Given the description of an element on the screen output the (x, y) to click on. 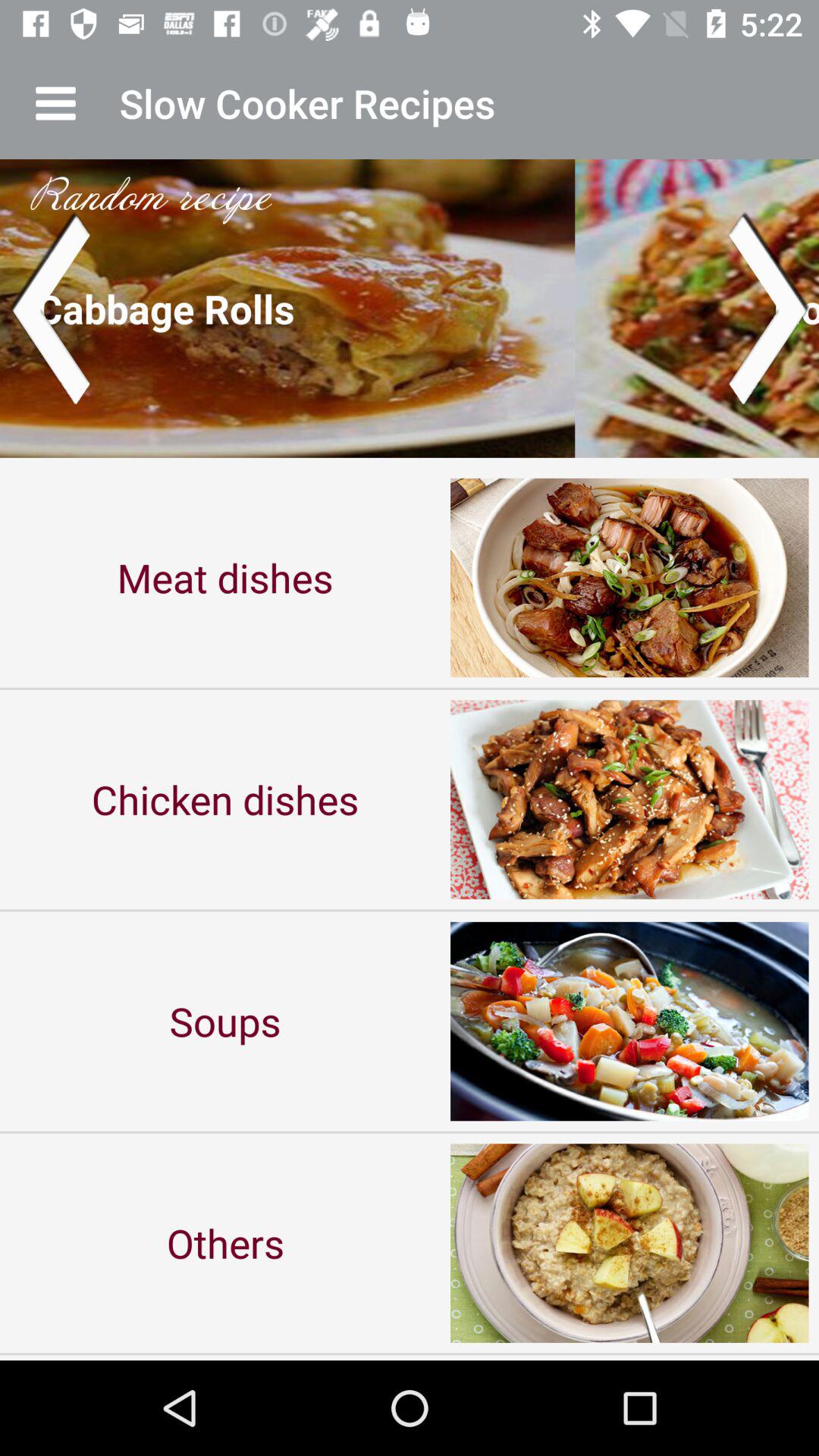
switch next page (769, 308)
